Given the description of an element on the screen output the (x, y) to click on. 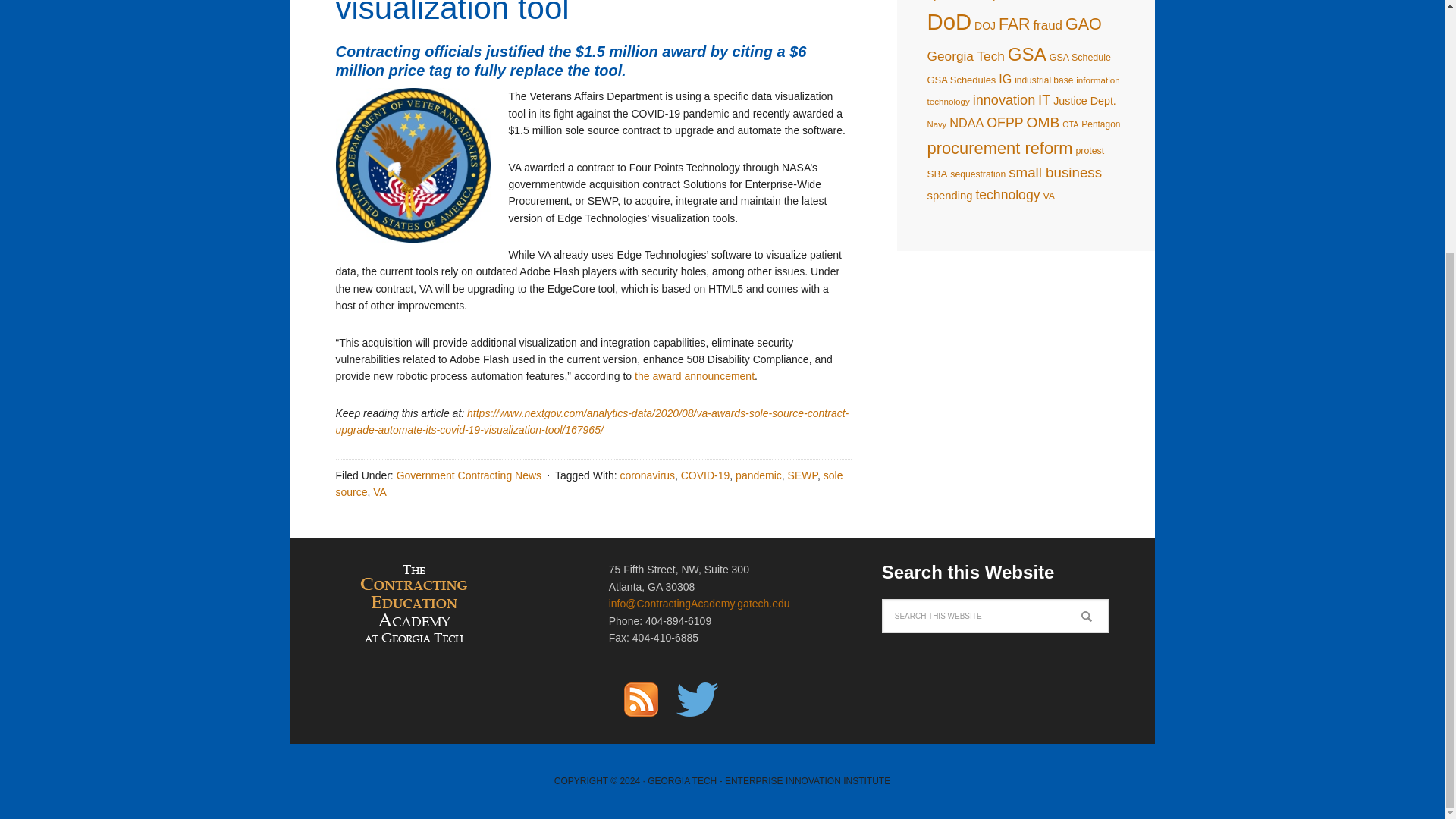
pandemic (758, 475)
COVID-19 (705, 475)
FAR (1014, 24)
SEWP (801, 475)
Government Contracting News (468, 475)
Georgia Tech (965, 55)
DoD (948, 21)
DOJ (984, 25)
sole source (588, 483)
coronavirus (647, 475)
VA (379, 491)
GSA (1026, 54)
